Given the description of an element on the screen output the (x, y) to click on. 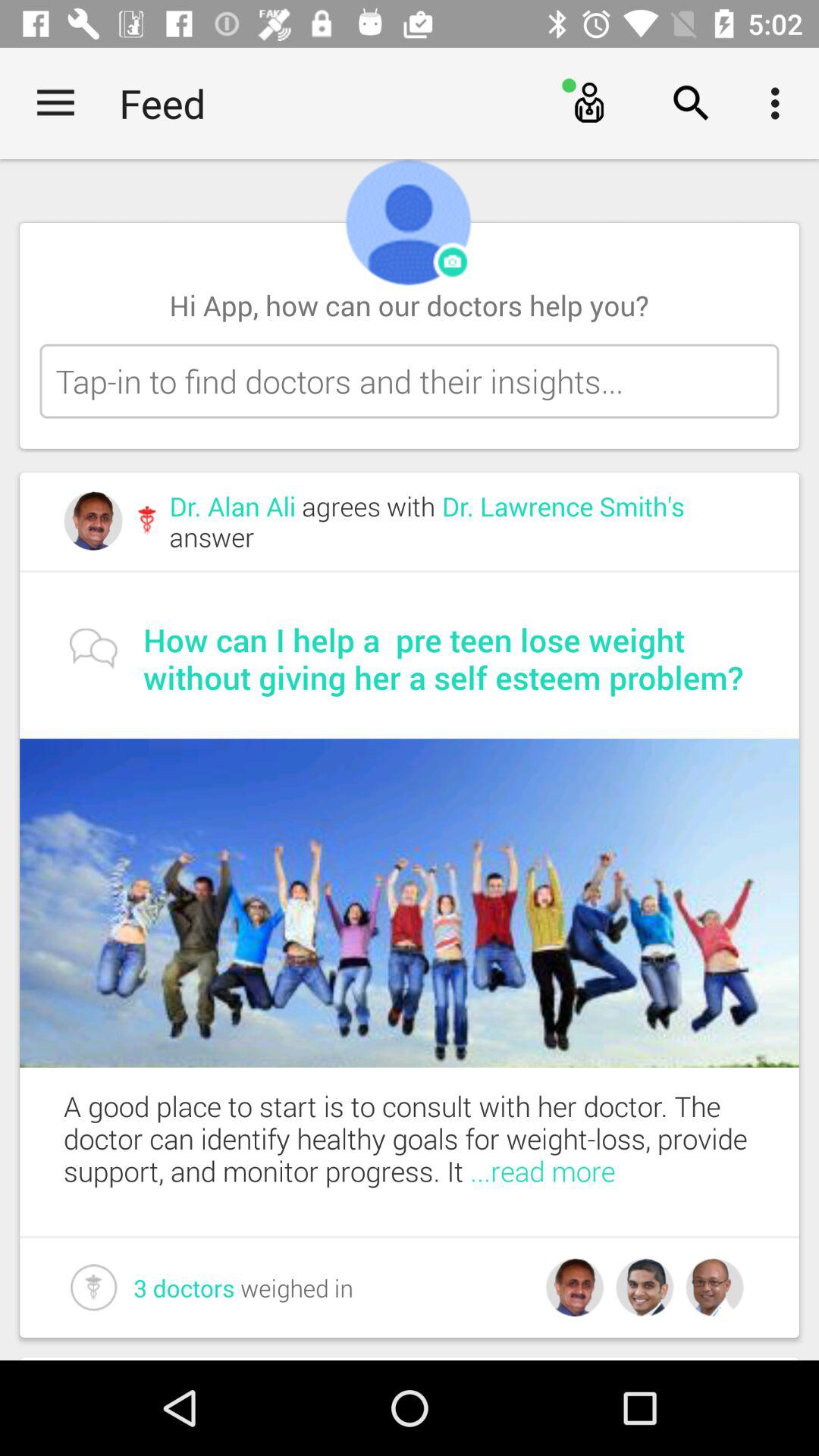
open camera (453, 262)
